Given the description of an element on the screen output the (x, y) to click on. 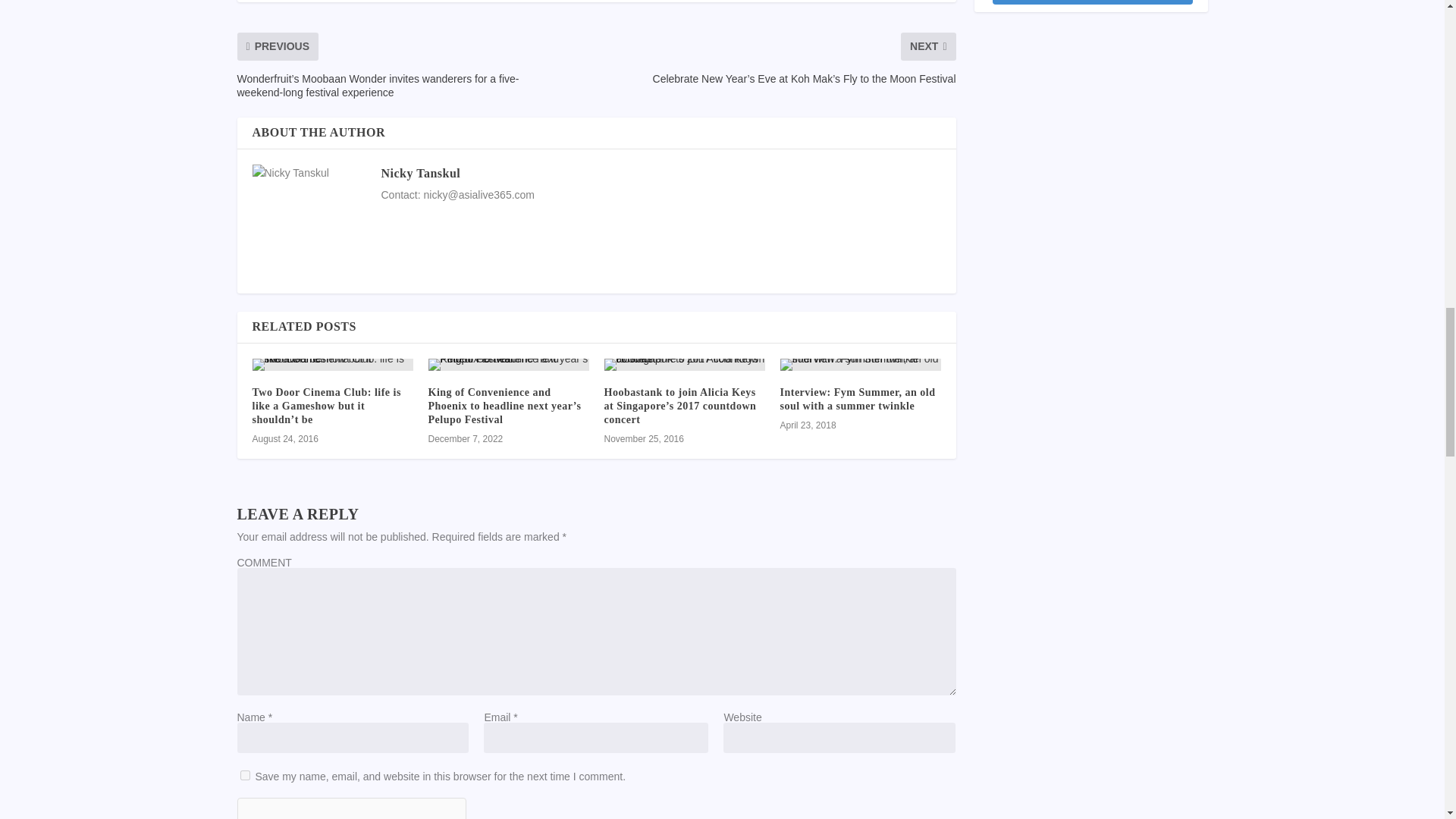
yes (244, 775)
